Given the description of an element on the screen output the (x, y) to click on. 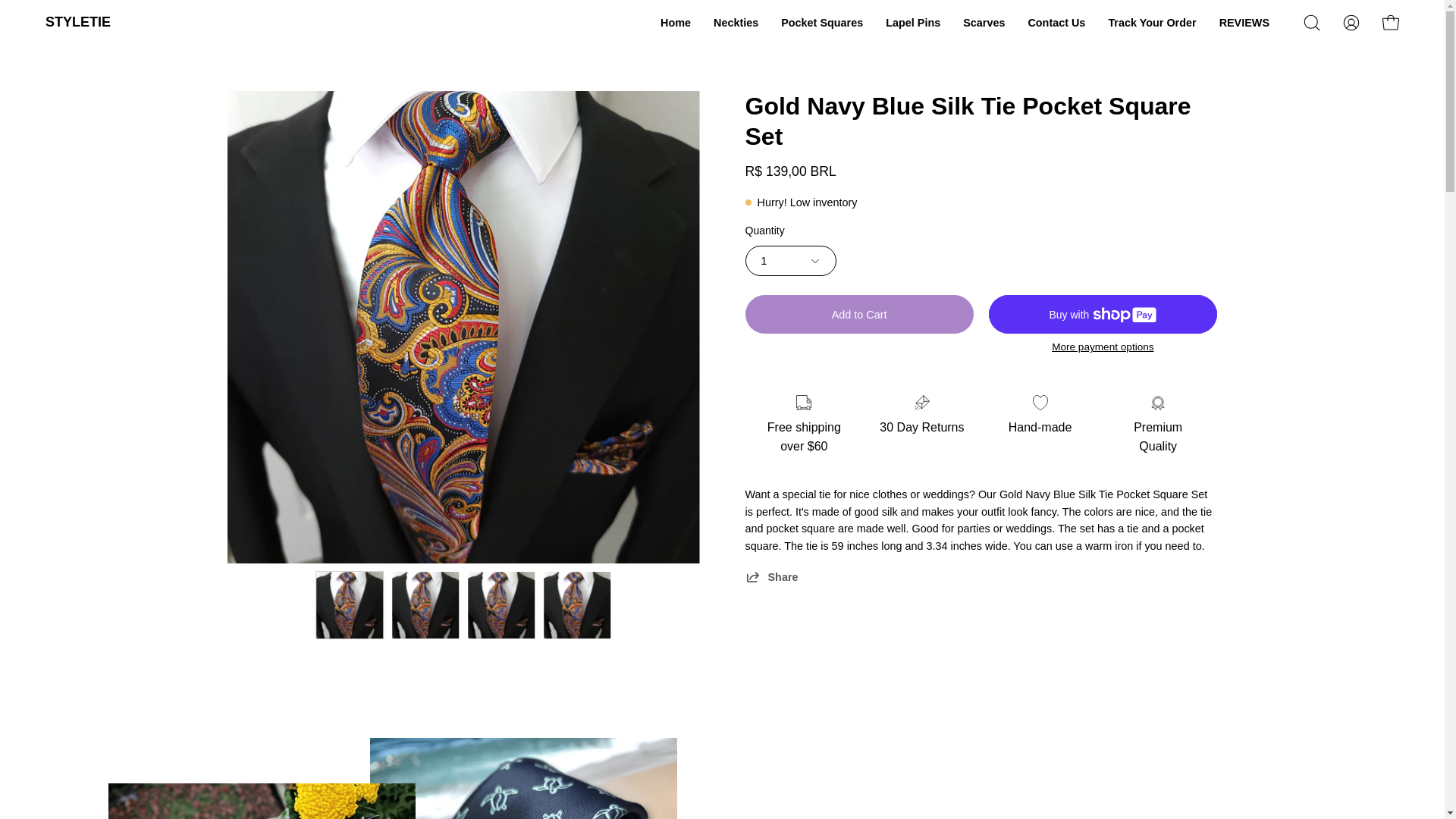
Open search bar (1311, 22)
STYLETIE (77, 22)
